Given the description of an element on the screen output the (x, y) to click on. 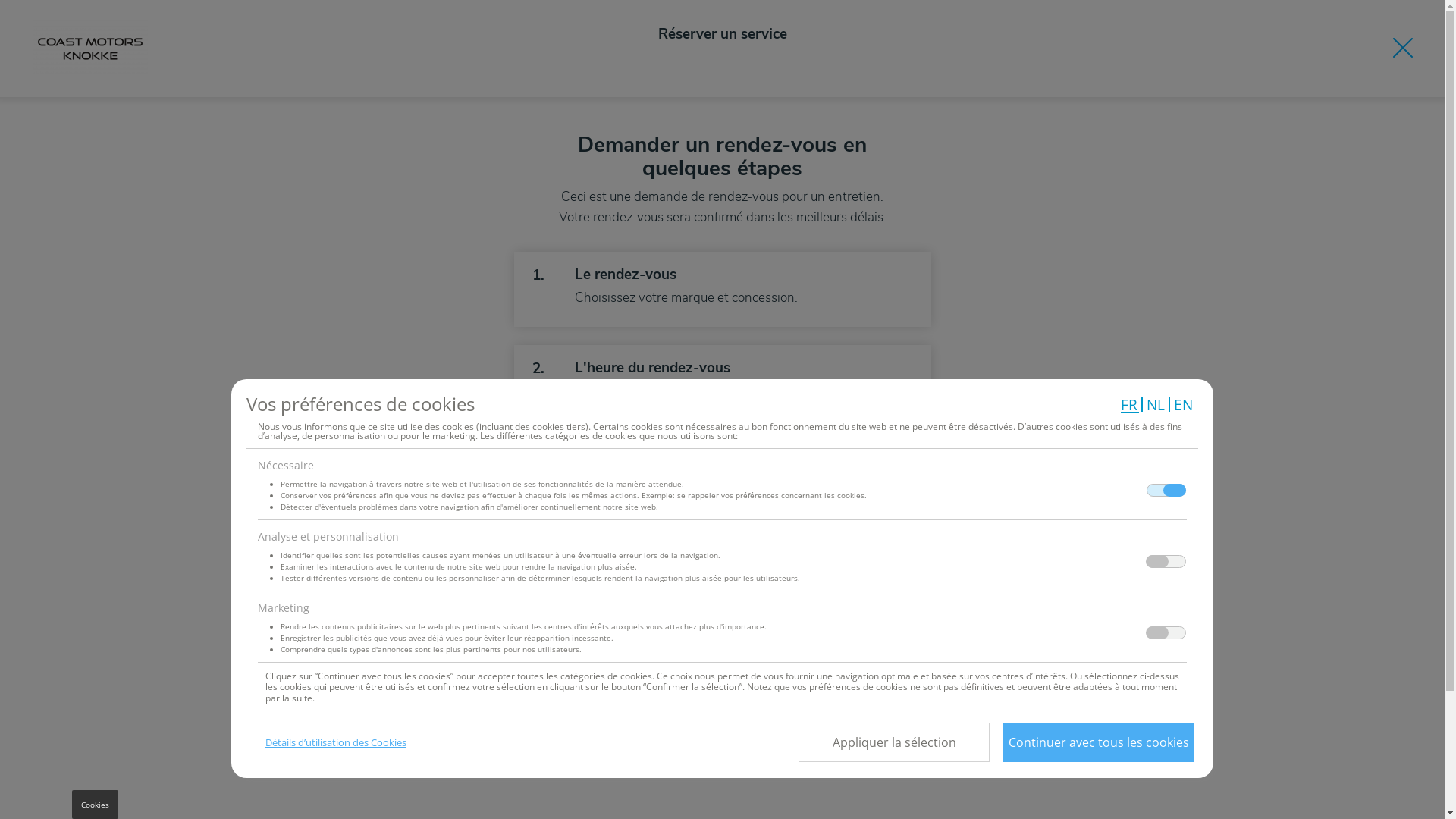
NL Element type: text (1156, 404)
Aller au contenu principal Element type: text (0, 0)
Continuer avec tous les cookies Element type: text (1098, 742)
EN Element type: text (1183, 404)
FR Element type: text (1129, 404)
